Given the description of an element on the screen output the (x, y) to click on. 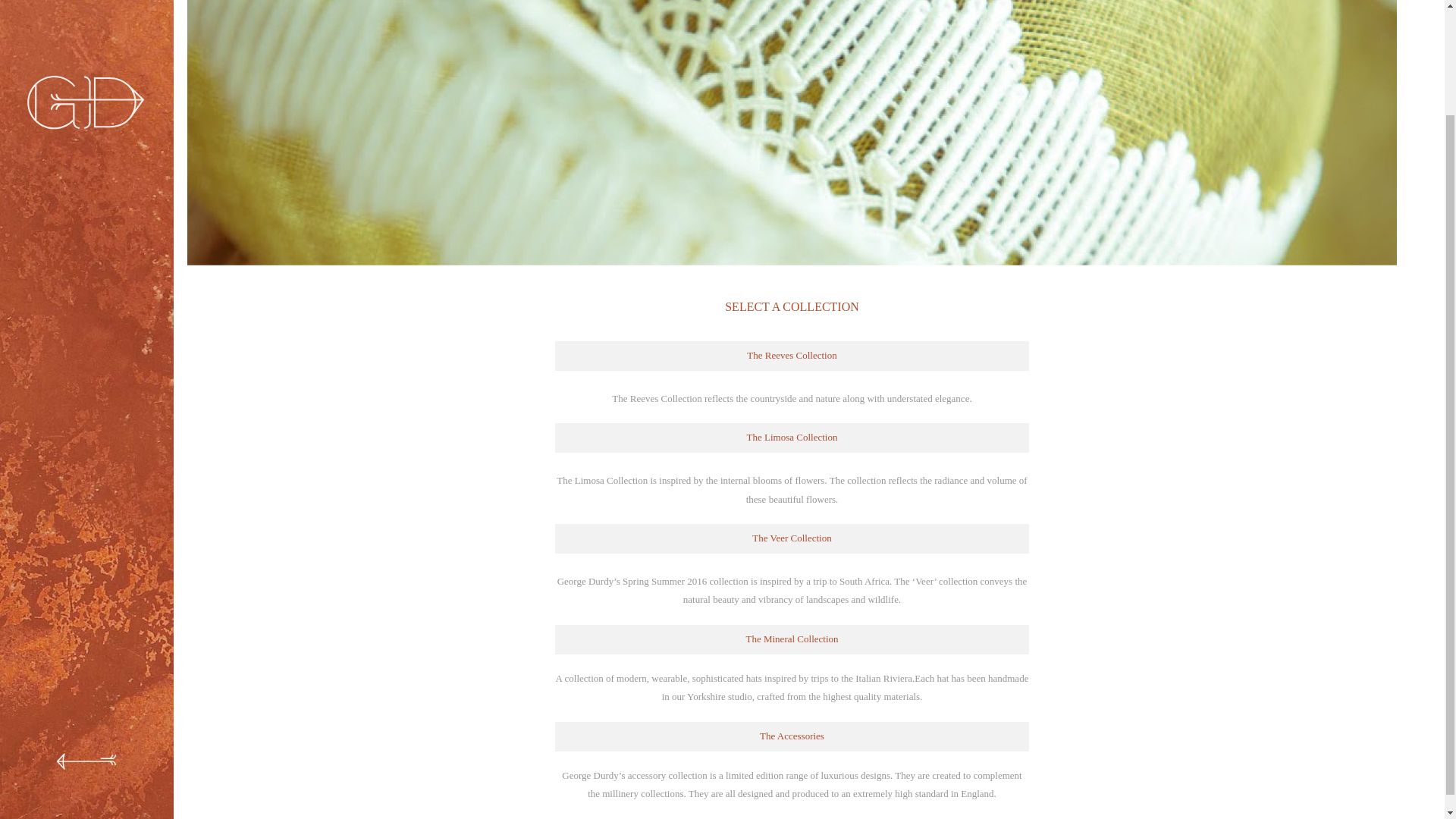
The Veer Collection (791, 538)
The Limosa Collection (791, 437)
The Accessories (791, 736)
The Reeves Collection (791, 356)
The Mineral Collection (791, 639)
